Given the description of an element on the screen output the (x, y) to click on. 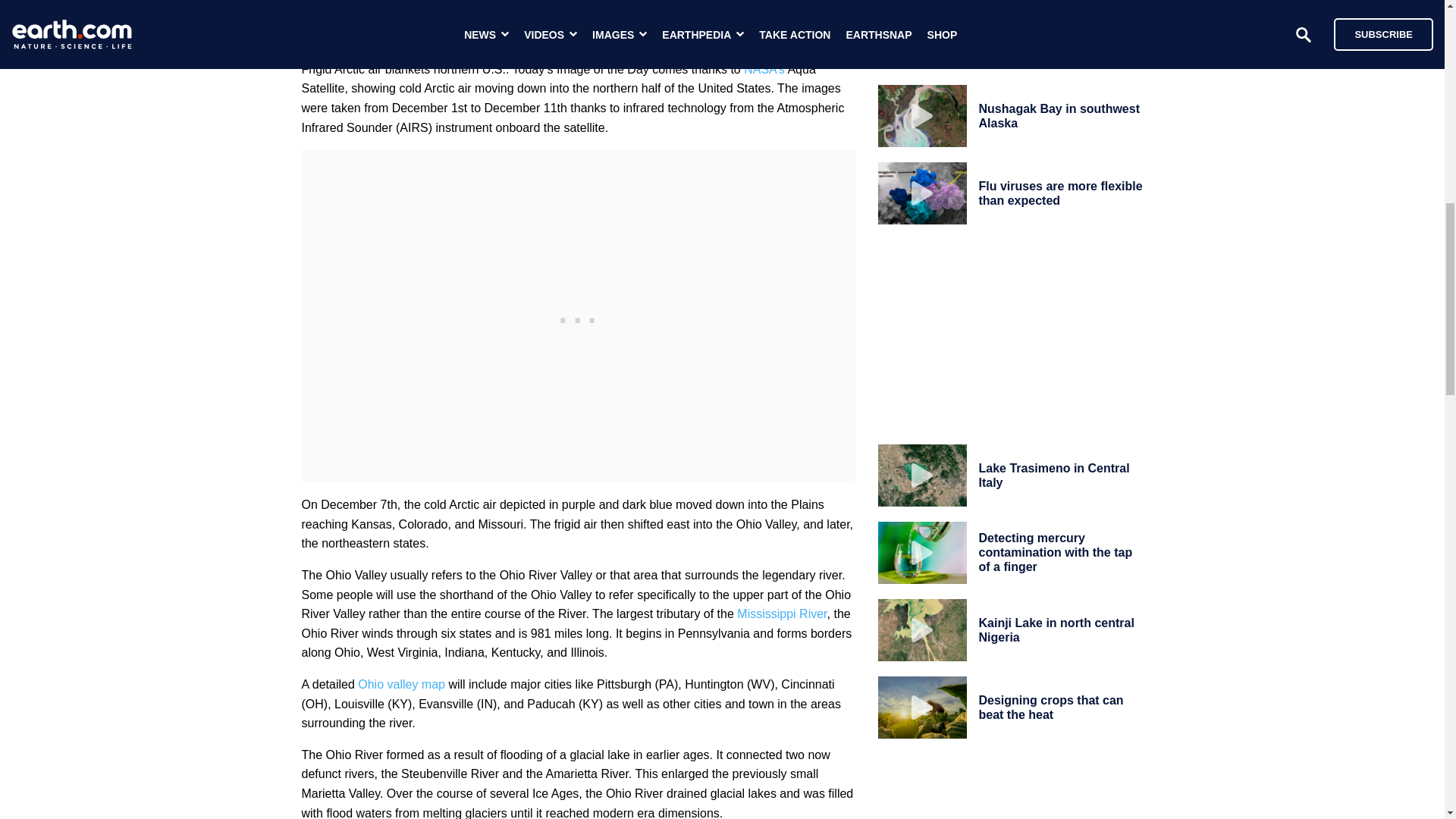
Designing crops that can beat the heat (1050, 706)
Nushagak Bay in southwest Alaska (1059, 114)
Detecting mercury contamination with the tap of a finger (1055, 552)
Kainji Lake in north central Nigeria (1056, 628)
Flu viruses are more flexible than expected (1059, 192)
Lake Trasimeno in Central Italy (1053, 474)
Mississippi River (781, 613)
Ohio valley map (401, 684)
